Given the description of an element on the screen output the (x, y) to click on. 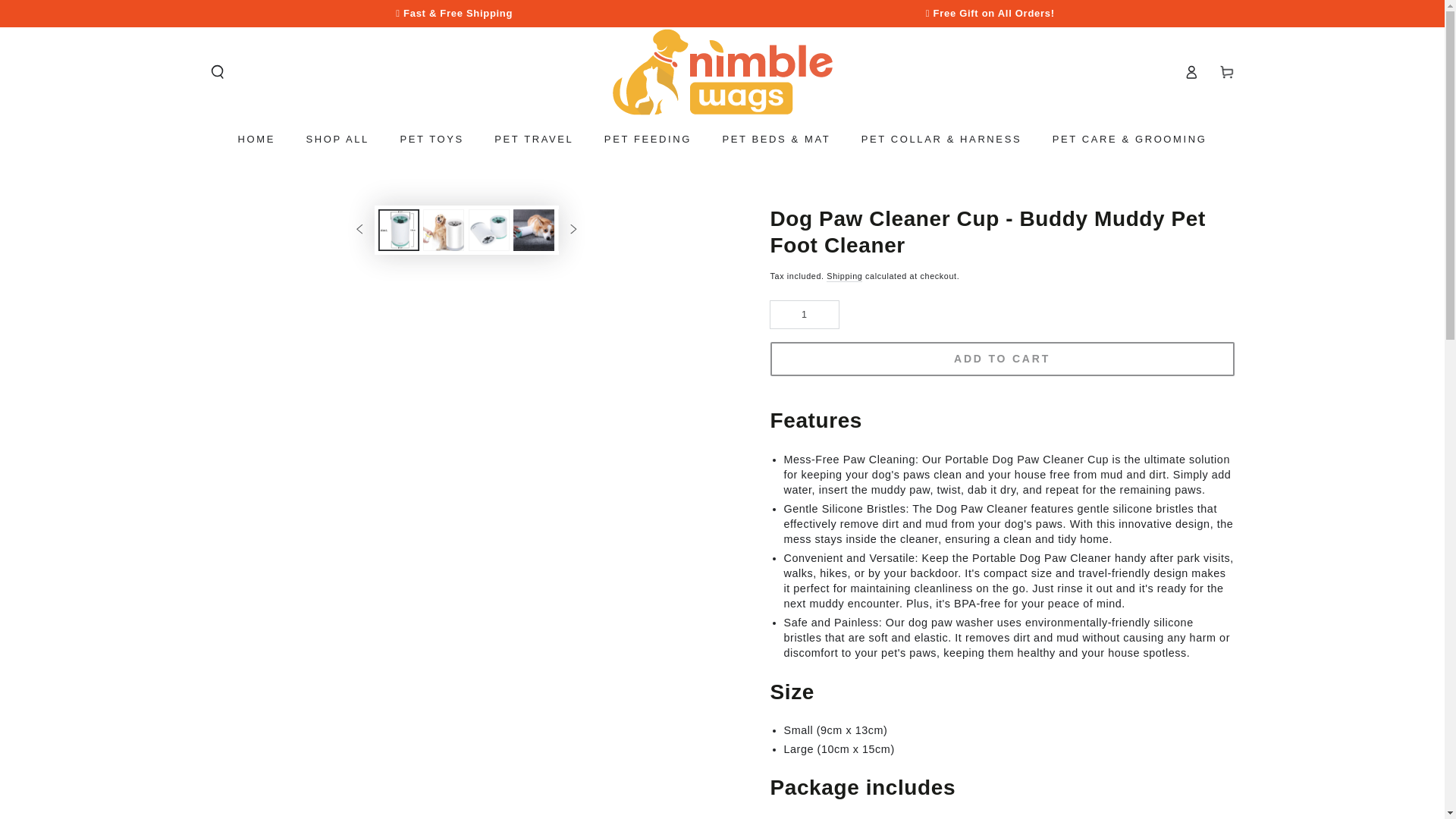
PET TOYS (432, 139)
HOME (256, 139)
SKIP TO CONTENT (61, 13)
PET TRAVEL (533, 139)
SHOP ALL (336, 139)
PET FEEDING (647, 139)
1 (804, 314)
